Given the description of an element on the screen output the (x, y) to click on. 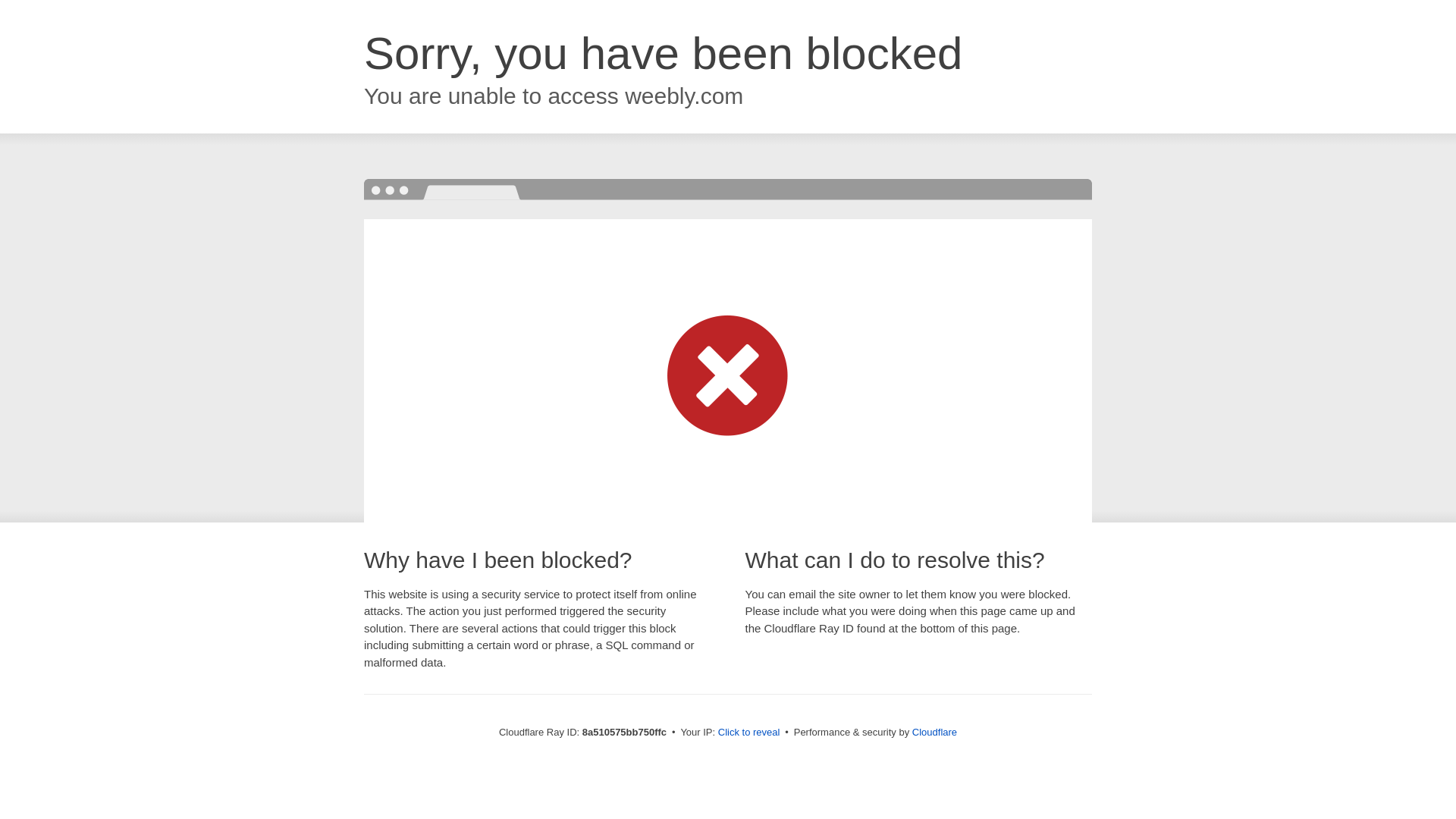
Click to reveal (748, 732)
Cloudflare (934, 731)
